Given the description of an element on the screen output the (x, y) to click on. 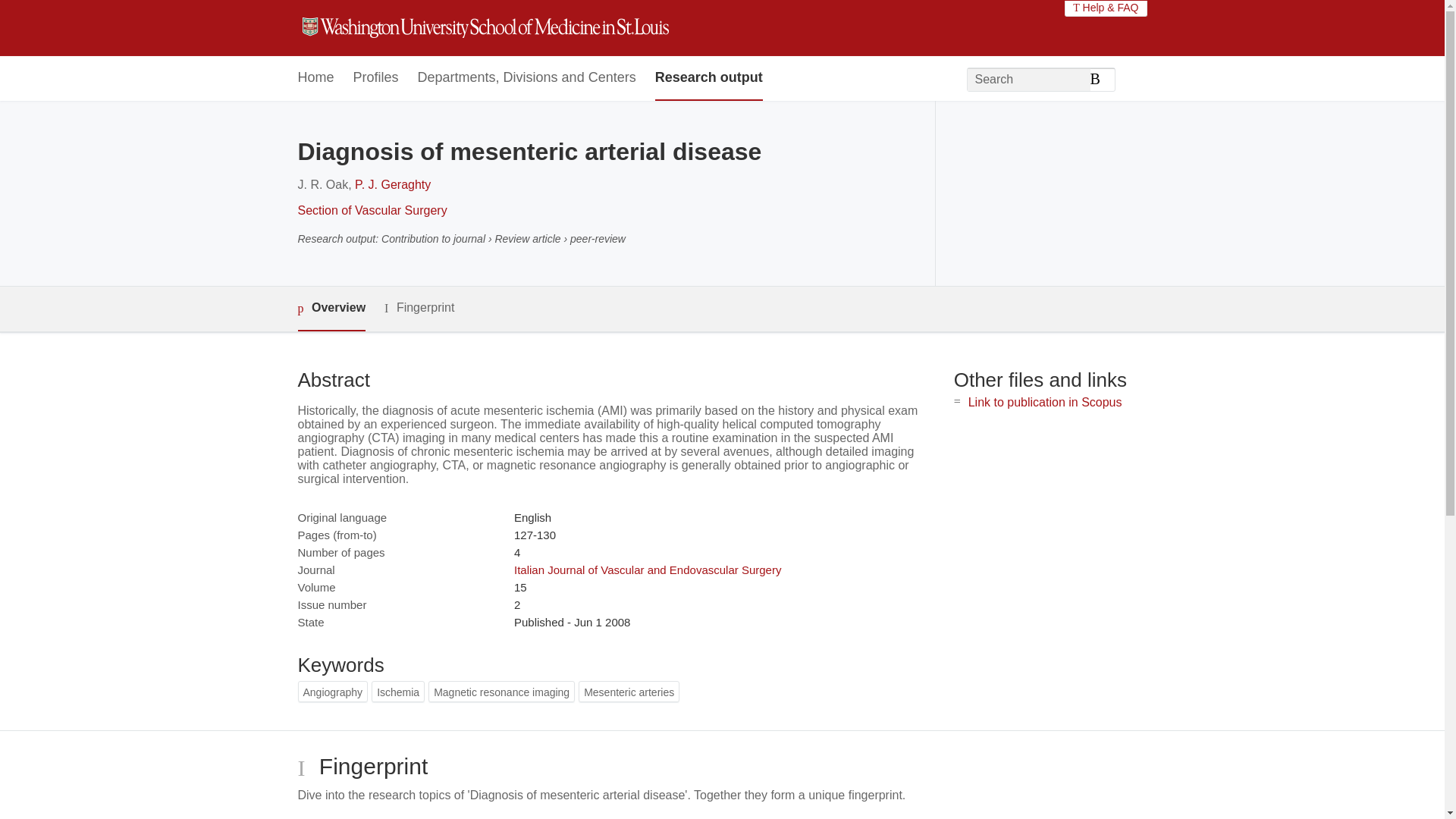
Link to publication in Scopus (1045, 401)
Italian Journal of Vascular and Endovascular Surgery (646, 569)
Overview (331, 308)
Profiles (375, 78)
Research output (708, 78)
Fingerprint (419, 308)
Section of Vascular Surgery (371, 210)
Departments, Divisions and Centers (526, 78)
P. J. Geraghty (392, 184)
